Given the description of an element on the screen output the (x, y) to click on. 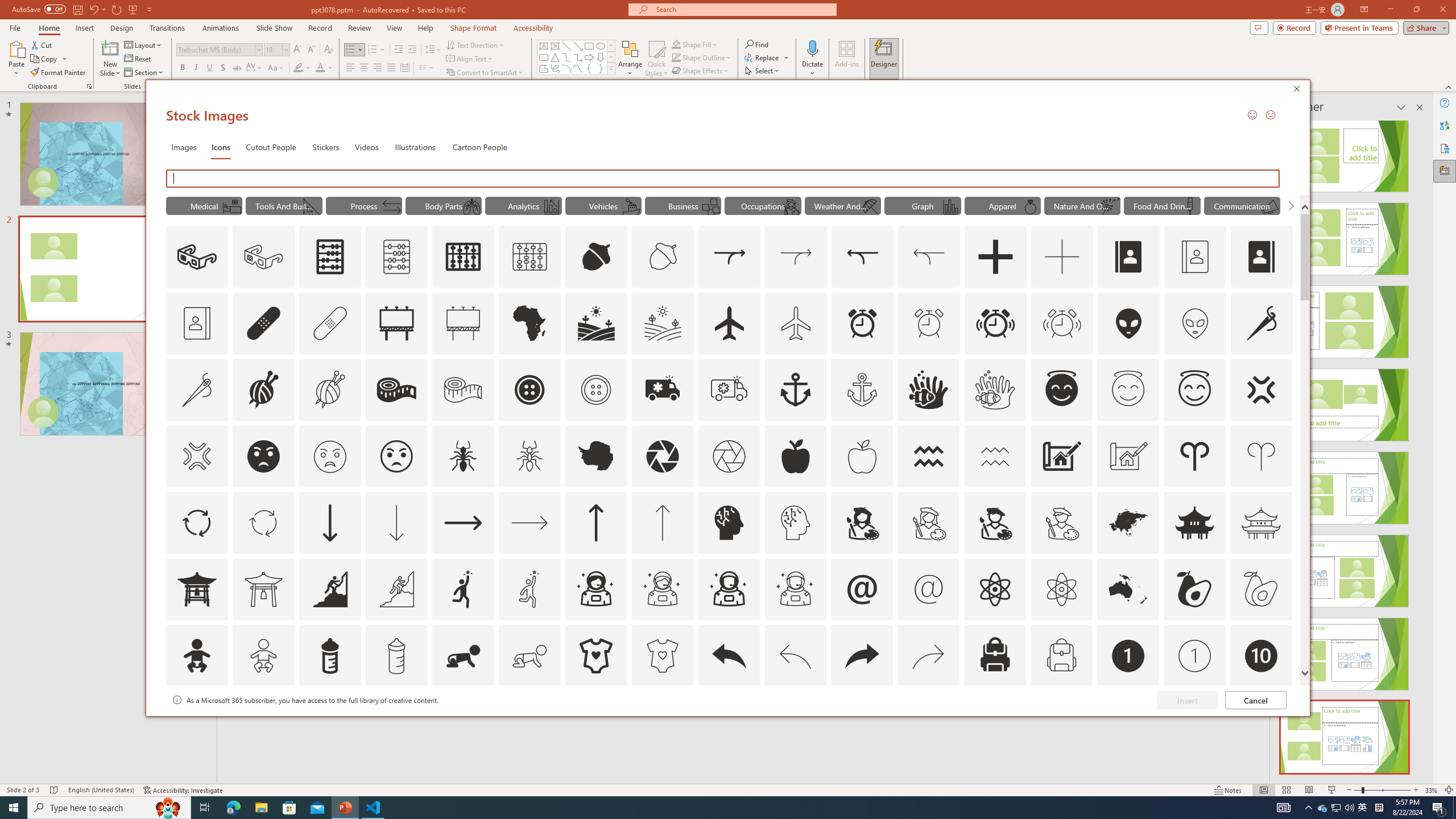
AutomationID: Icons_AlarmClock_M (928, 323)
AutomationID: Icons_AsianTemple_M (1260, 522)
AutomationID: Icons_Badge6_M (861, 721)
AutomationID: Icons_Badge5 (662, 721)
AutomationID: Icons_Transfer_M (391, 206)
AutomationID: Icons_Badge8 (1061, 721)
